Given the description of an element on the screen output the (x, y) to click on. 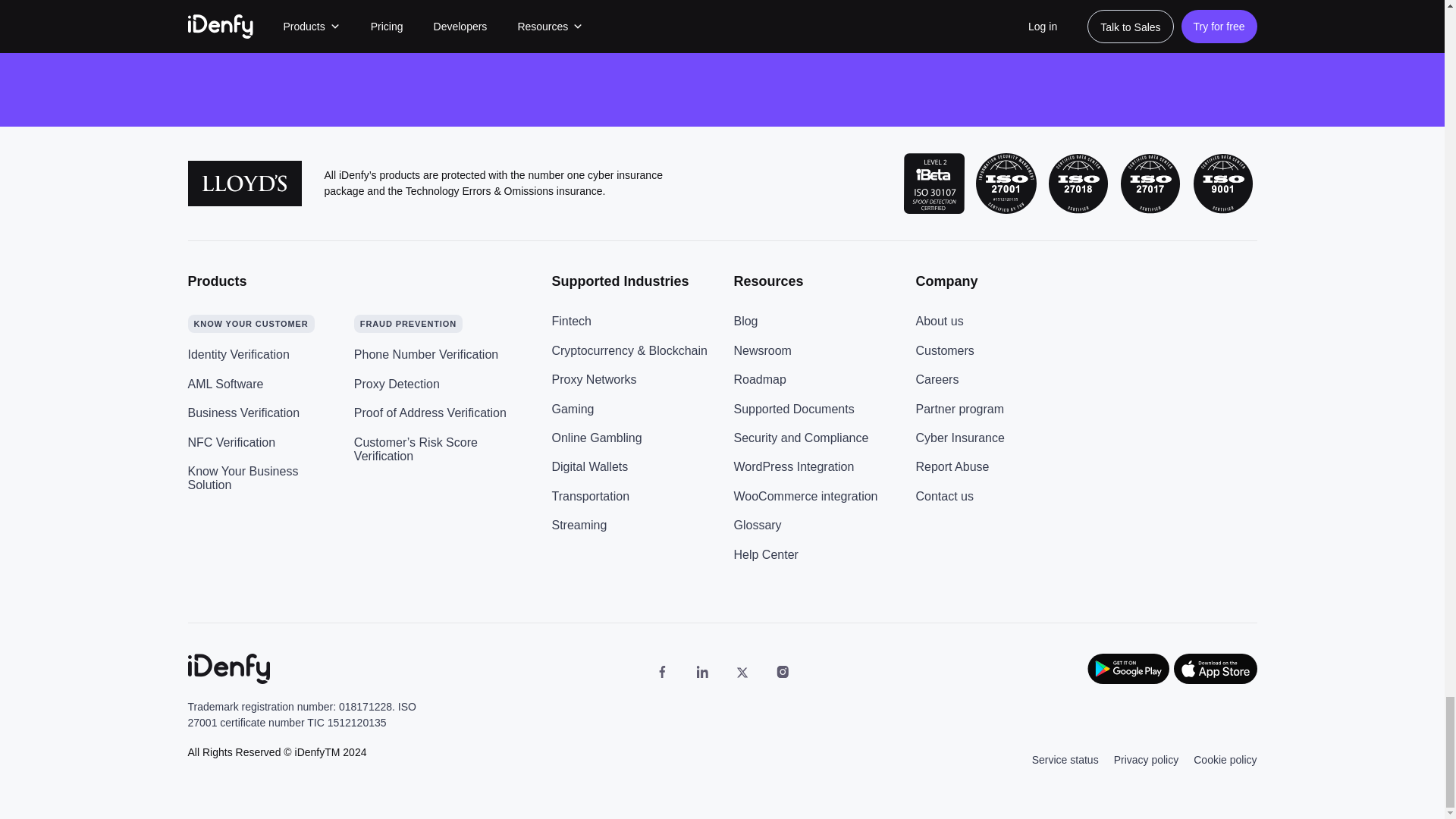
Social link (702, 671)
Social link (741, 672)
Social link (782, 671)
Social link (661, 671)
